Given the description of an element on the screen output the (x, y) to click on. 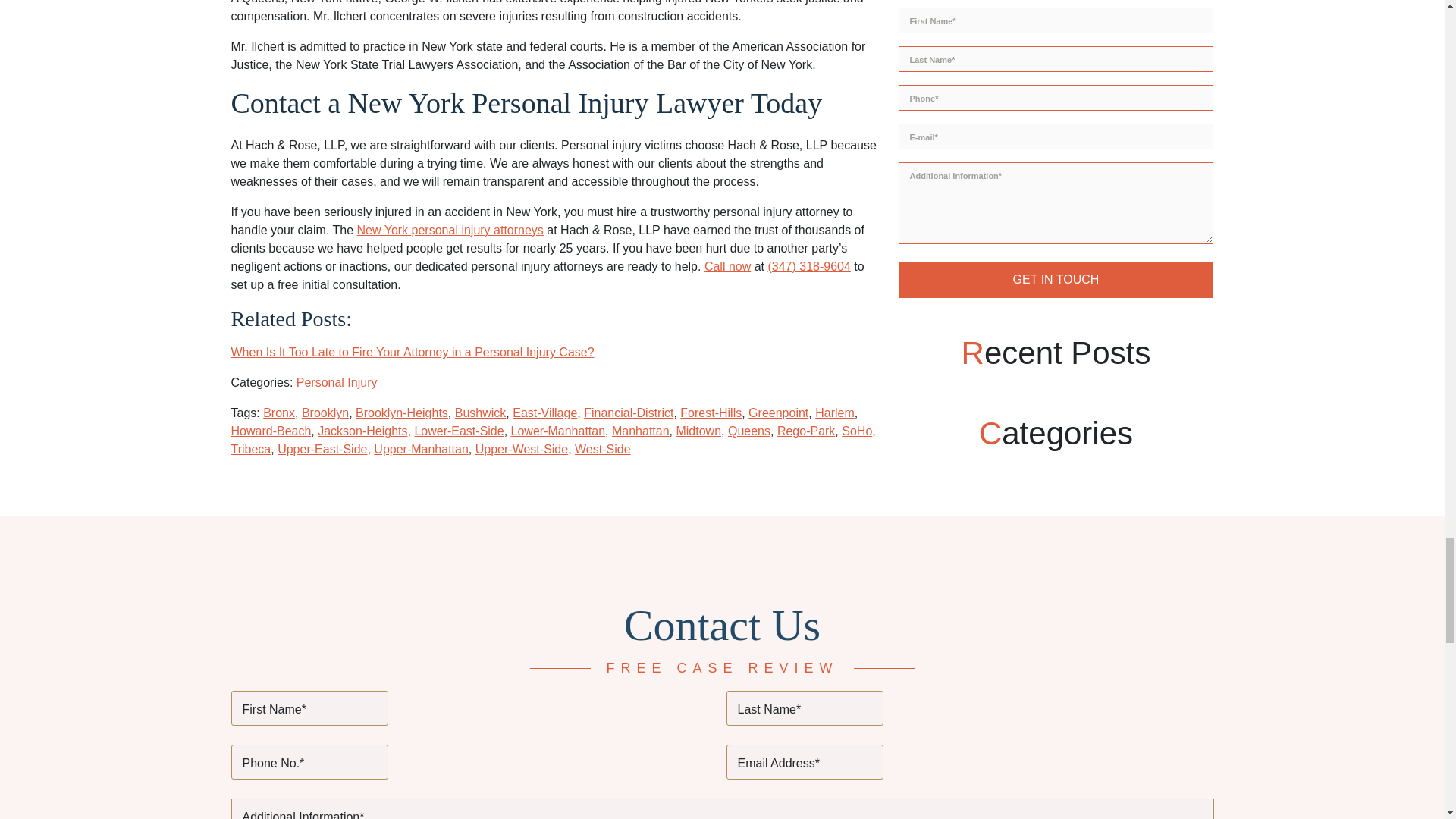
New York Injury Attorney (449, 229)
